Given the description of an element on the screen output the (x, y) to click on. 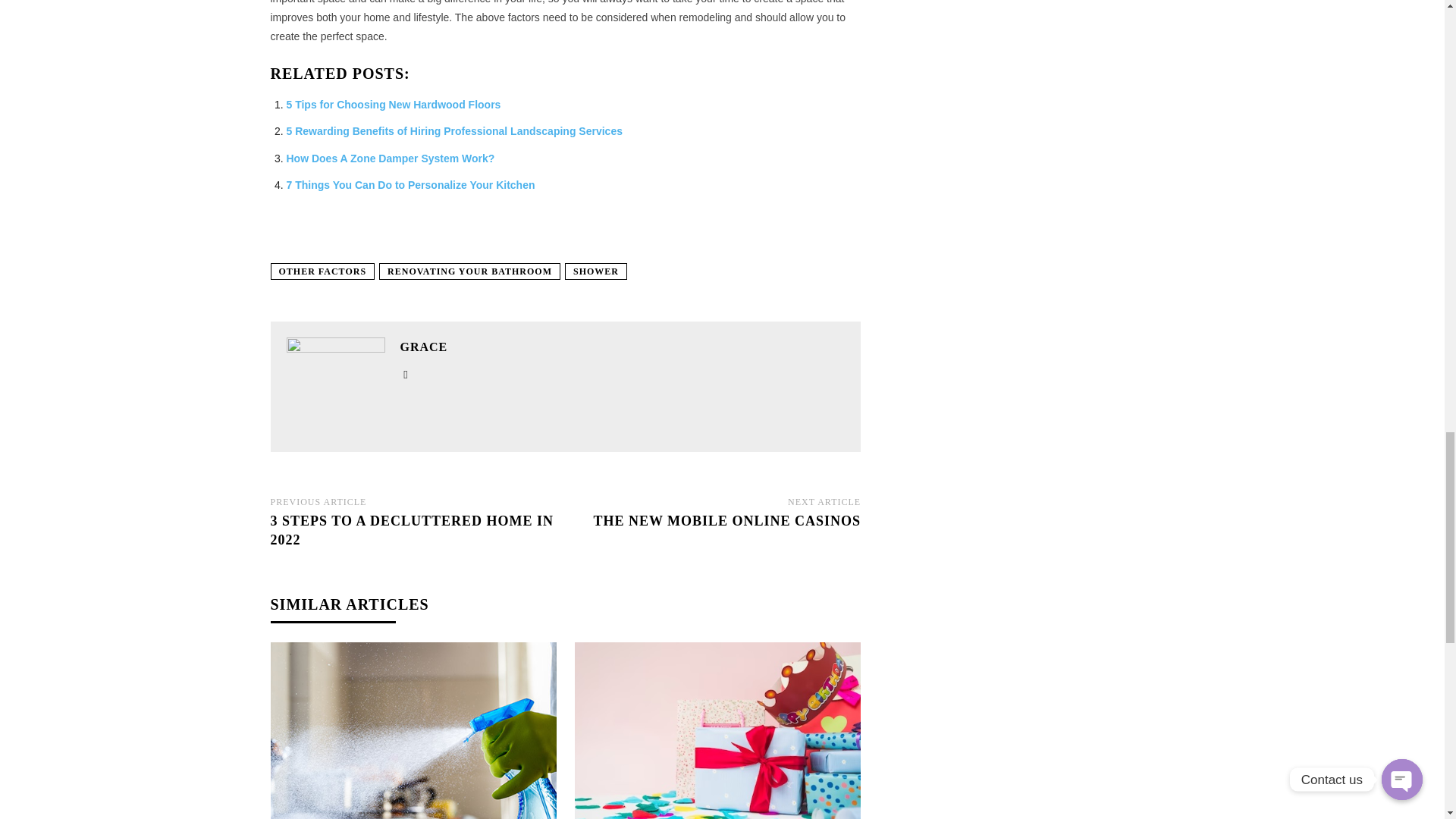
How Does A Zone Damper System Work? (390, 158)
5 Tips for Choosing New Hardwood Floors (393, 104)
Grace (335, 386)
7 Things You Can Do to Personalize Your Kitchen (410, 184)
facebook (406, 371)
